Given the description of an element on the screen output the (x, y) to click on. 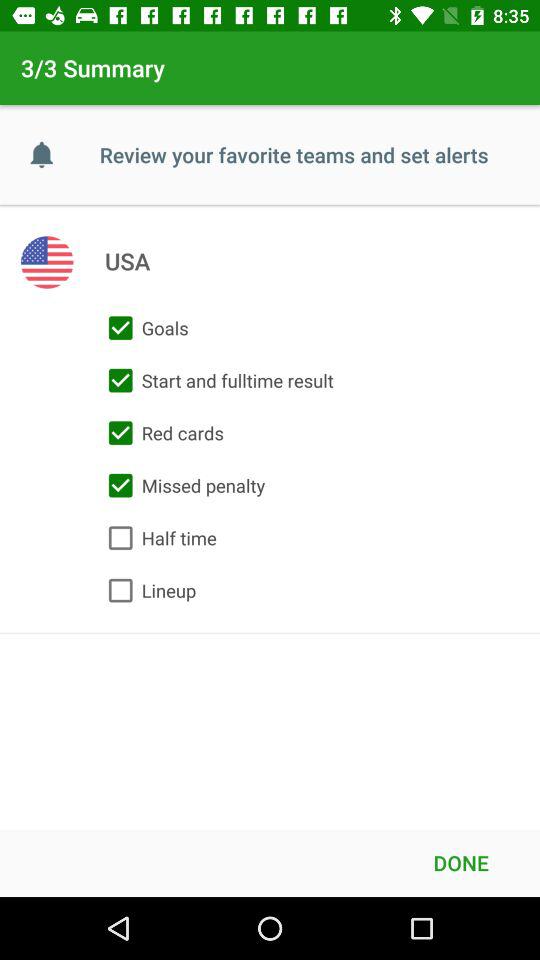
swipe to red cards icon (161, 433)
